Given the description of an element on the screen output the (x, y) to click on. 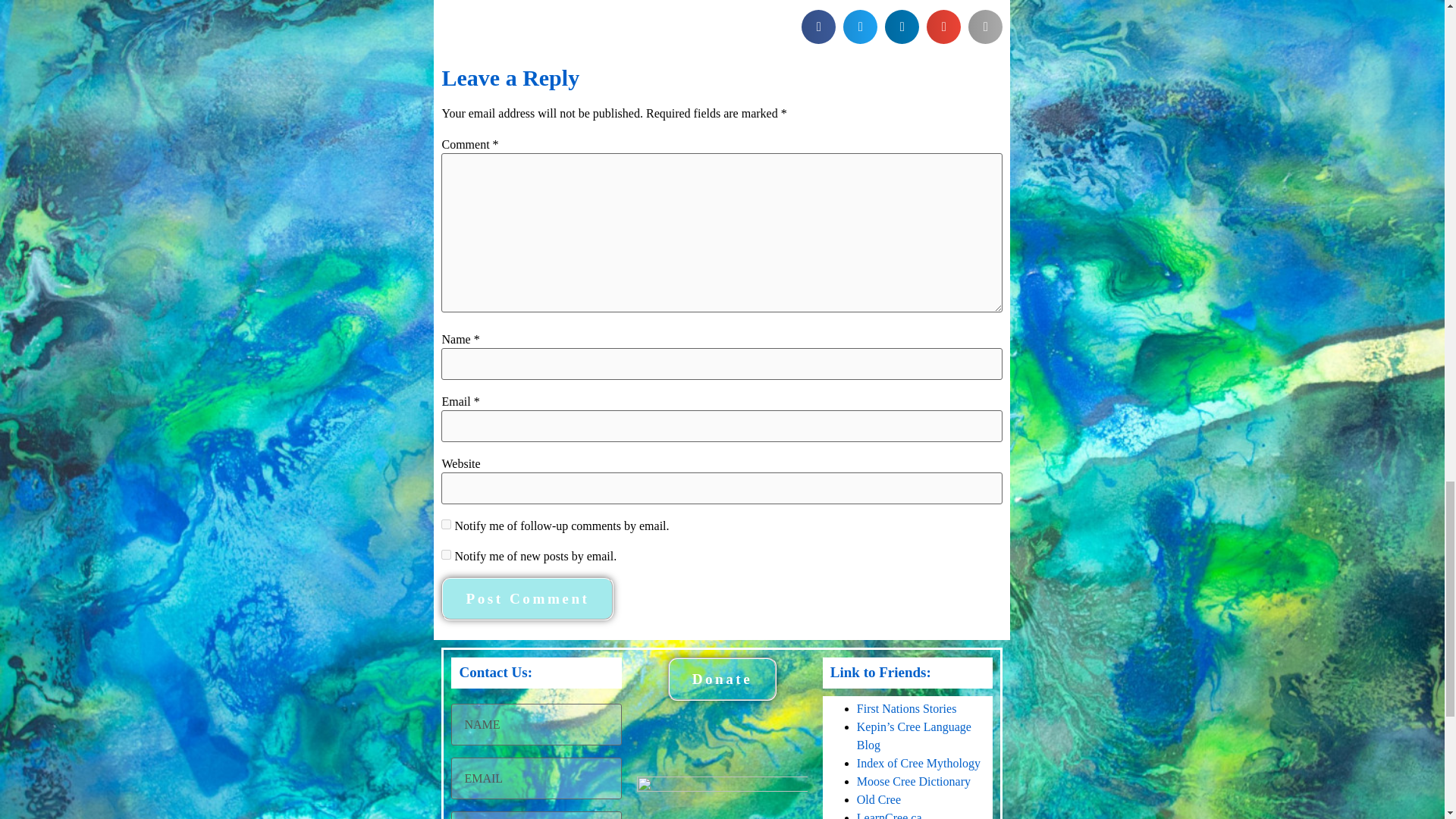
SUBJECT (536, 815)
subscribe (446, 554)
Post Comment (526, 598)
NAME (536, 724)
EMAIL (536, 778)
subscribe (446, 524)
